Given the description of an element on the screen output the (x, y) to click on. 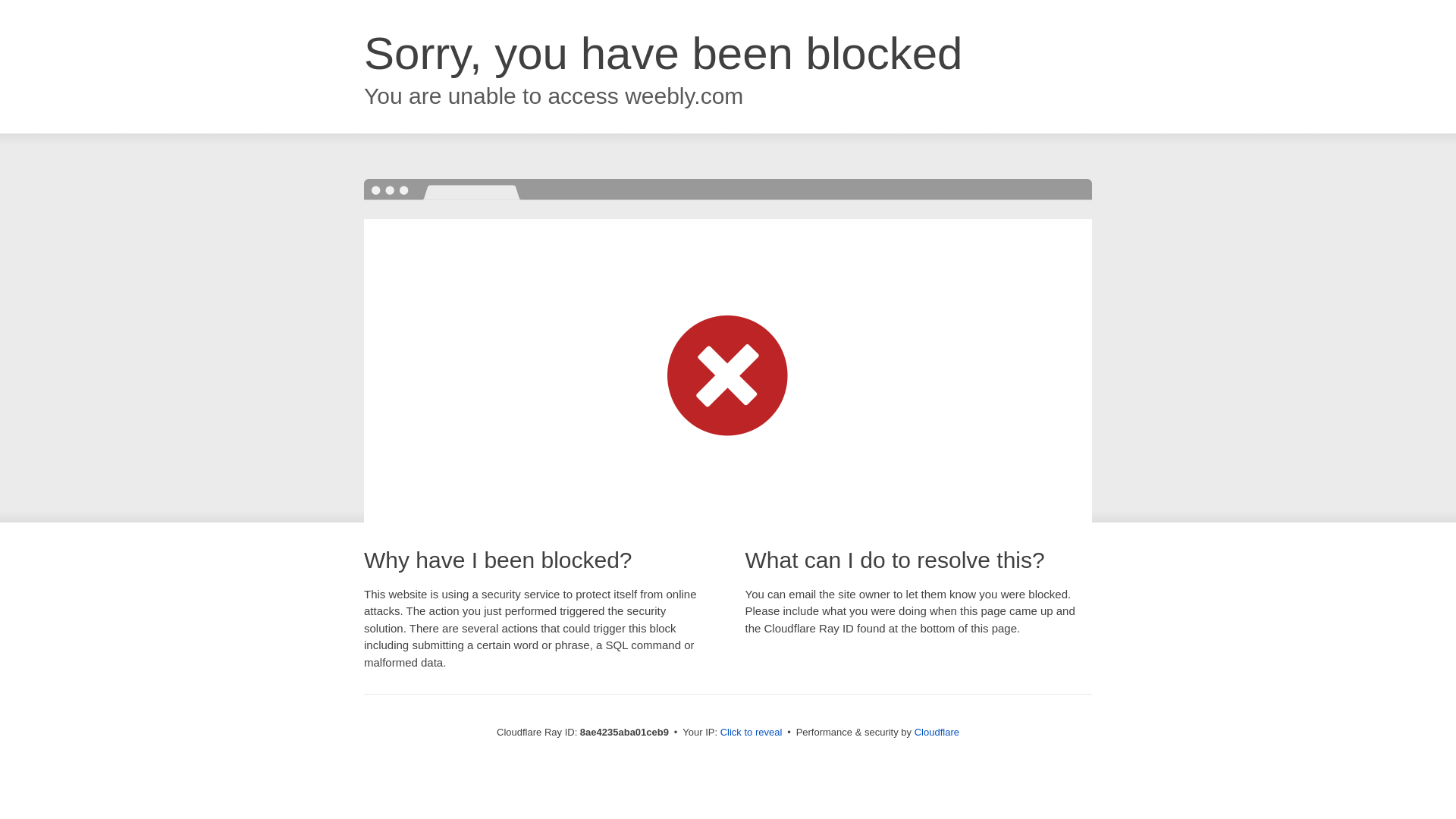
Click to reveal (751, 732)
Cloudflare (936, 731)
